Given the description of an element on the screen output the (x, y) to click on. 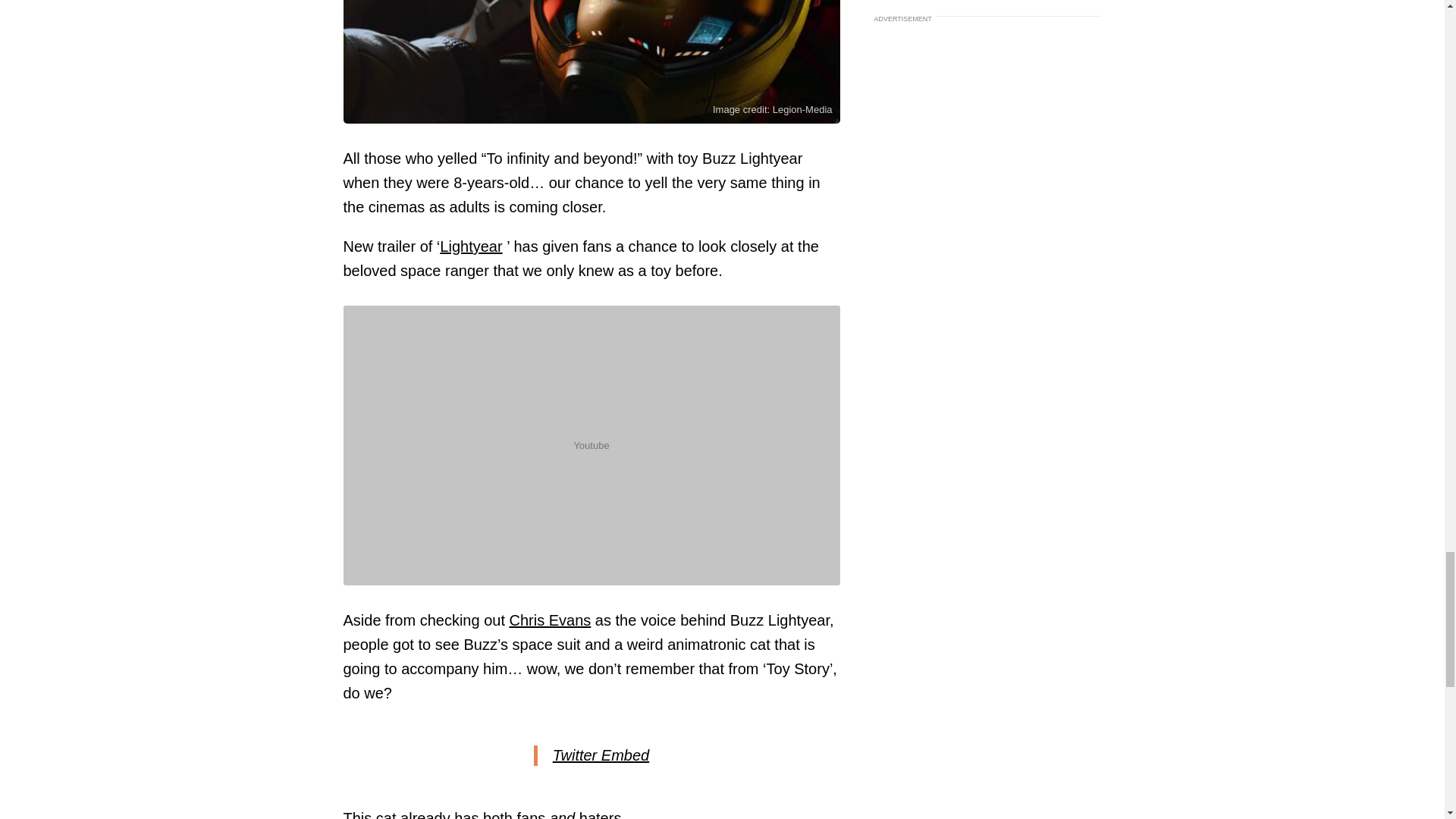
Twitter Embed (601, 754)
Lightyear (470, 246)
Chris Evans (550, 619)
Final Lightyear Trailer Provides a Glimpse at Buzz's Look (591, 61)
